Given the description of an element on the screen output the (x, y) to click on. 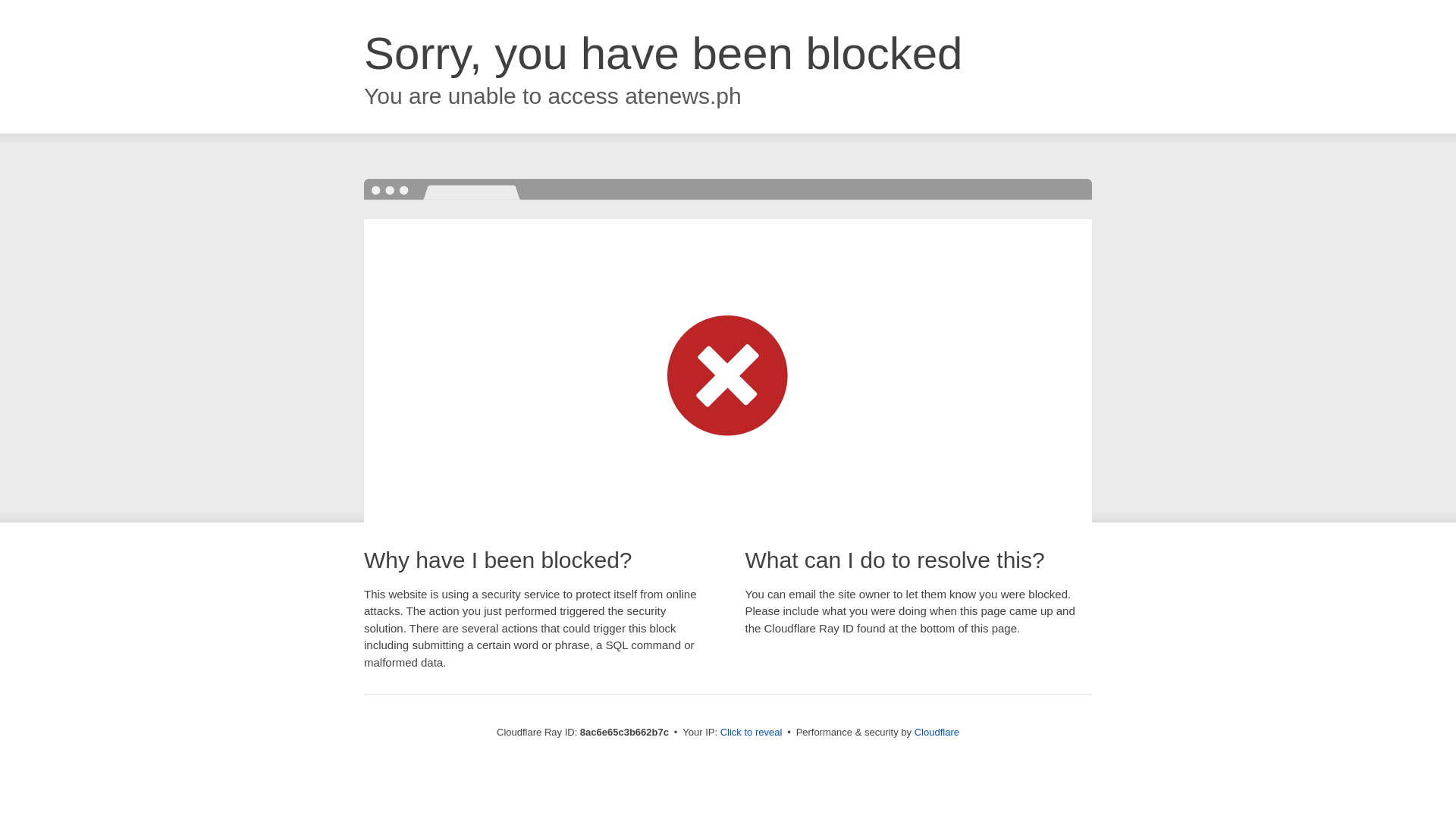
Click to reveal (751, 732)
Cloudflare (936, 731)
